Given the description of an element on the screen output the (x, y) to click on. 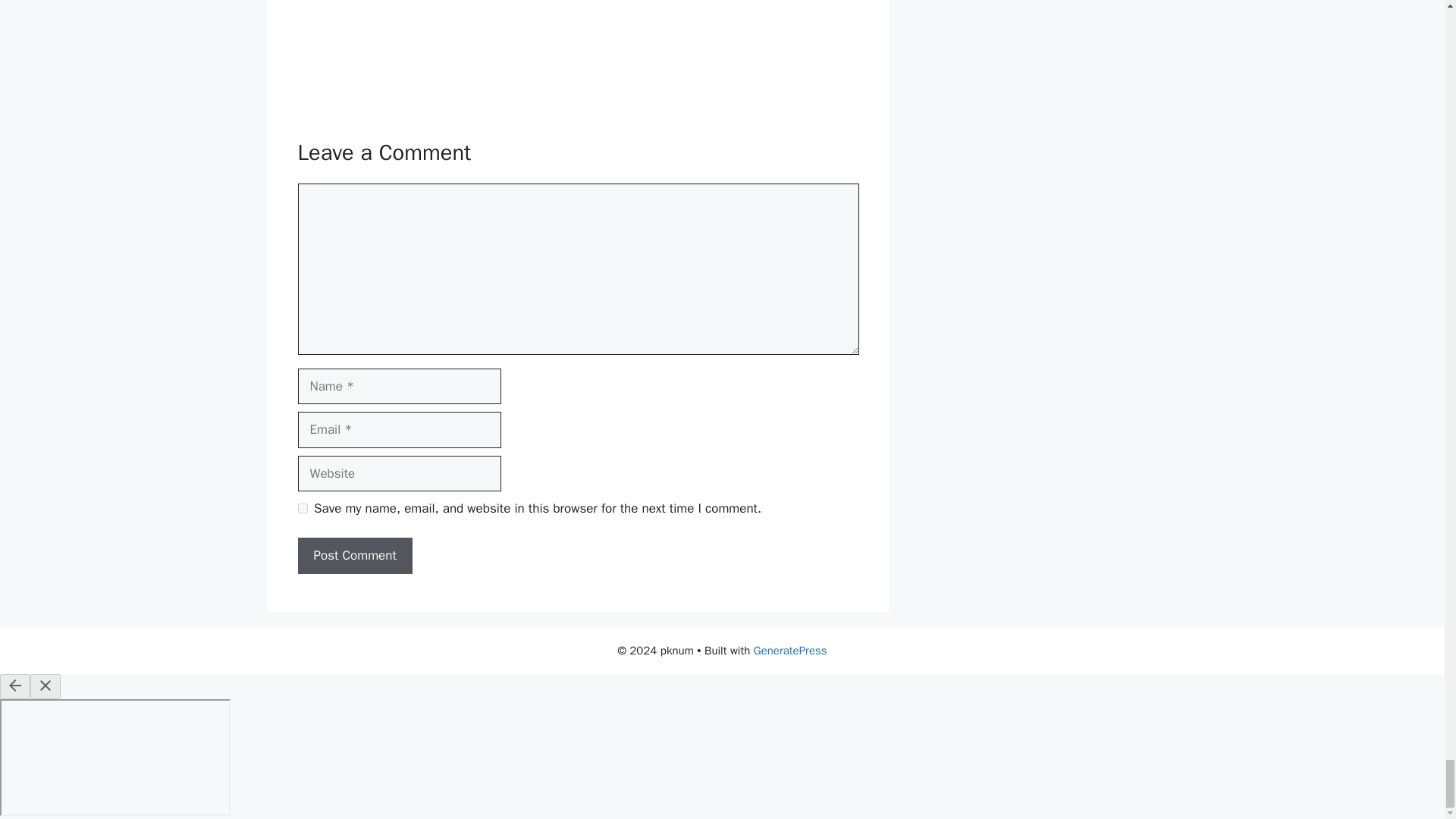
Post Comment (354, 555)
yes (302, 508)
